Given the description of an element on the screen output the (x, y) to click on. 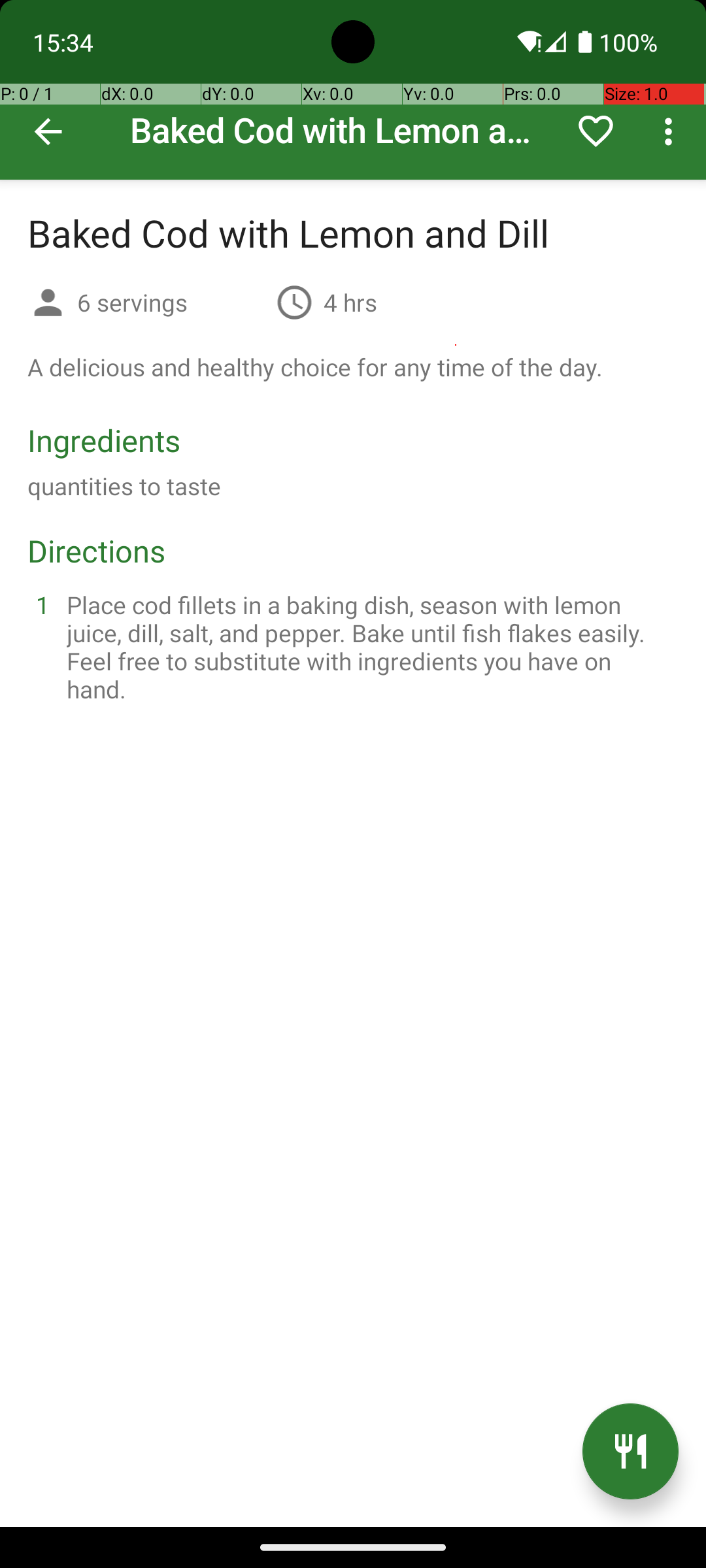
Place cod fillets in a baking dish, season with lemon juice, dill, salt, and pepper. Bake until fish flakes easily. Feel free to substitute with ingredients you have on hand. Element type: android.widget.TextView (368, 646)
